Given the description of an element on the screen output the (x, y) to click on. 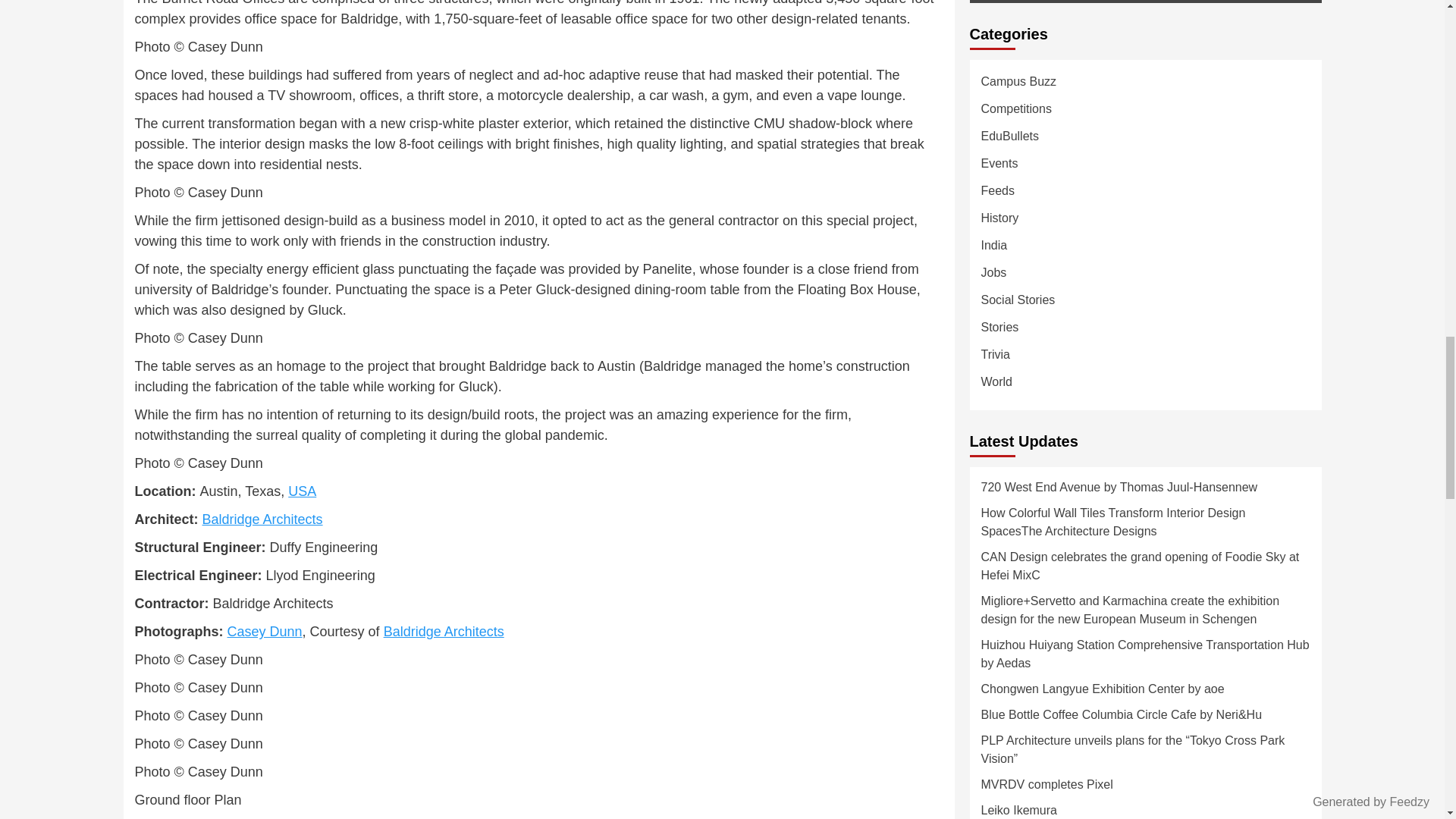
Baldridge Architects (443, 631)
USA (301, 491)
Baldridge Architects (262, 519)
Casey Dunn (264, 631)
